Given the description of an element on the screen output the (x, y) to click on. 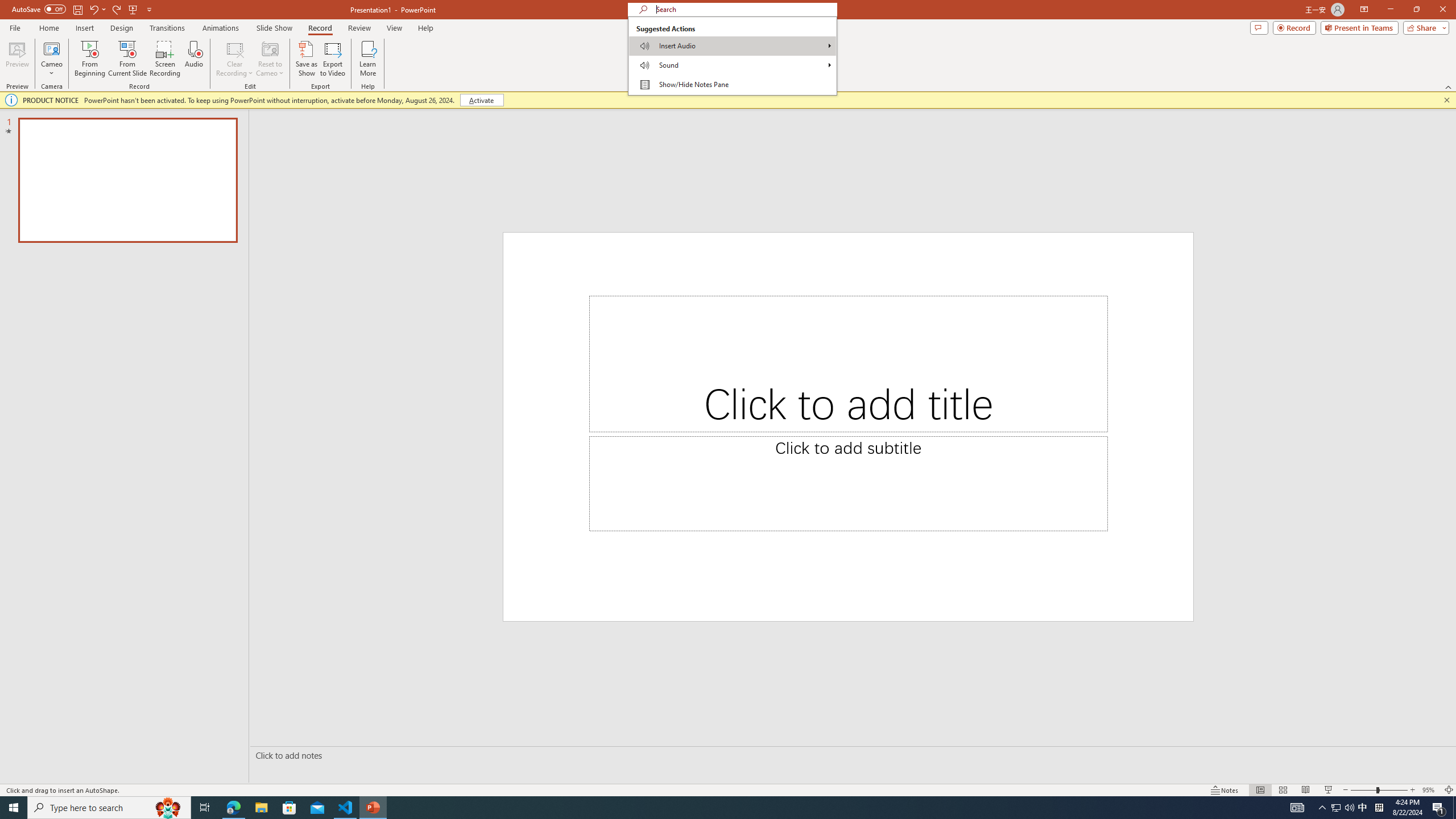
Close this message (1446, 99)
Sound (731, 65)
